Given the description of an element on the screen output the (x, y) to click on. 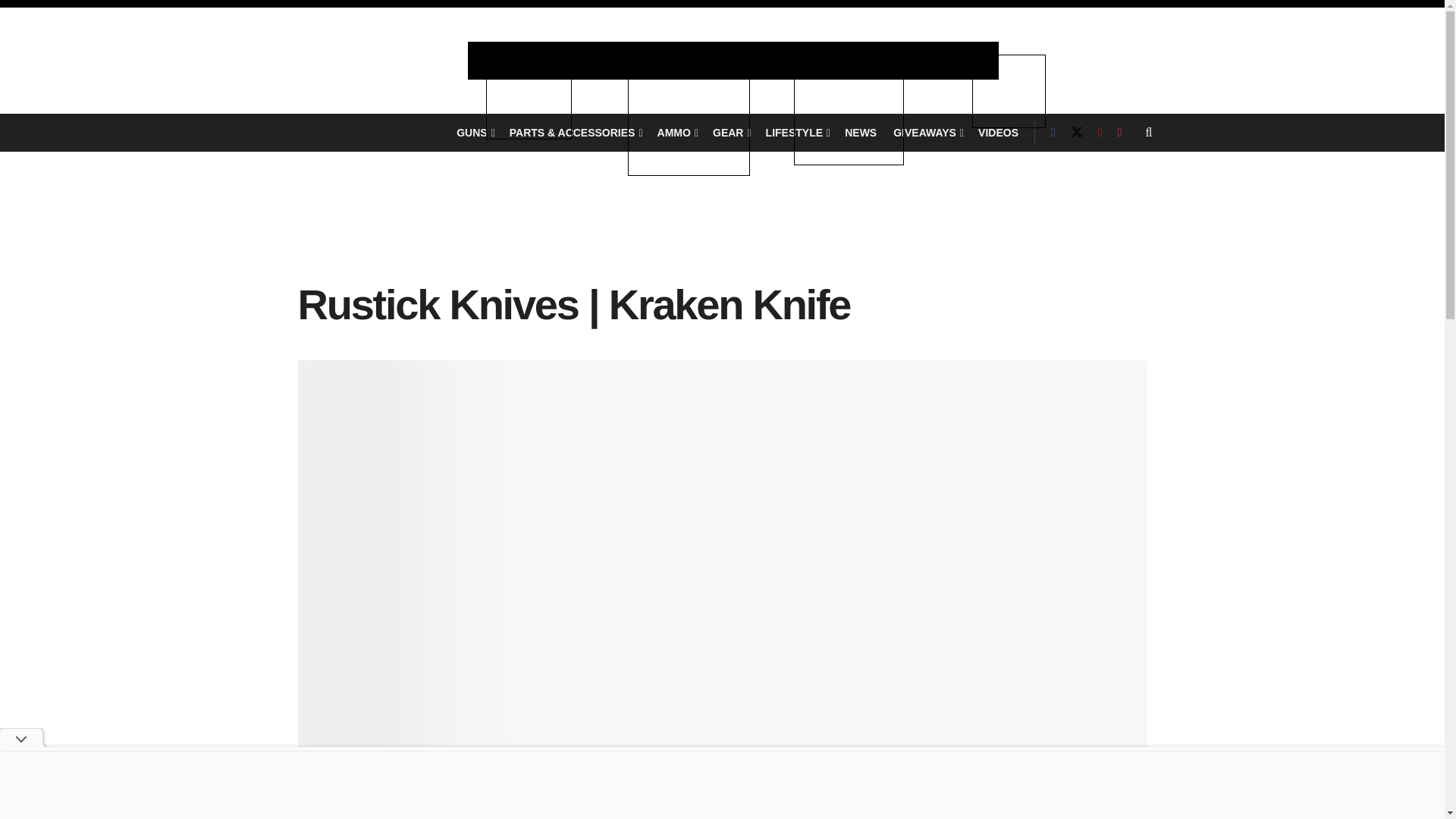
GEAR (731, 132)
GUNS (475, 132)
3rd party ad content (721, 785)
AMMO (676, 132)
3rd party ad content (722, 232)
